Given the description of an element on the screen output the (x, y) to click on. 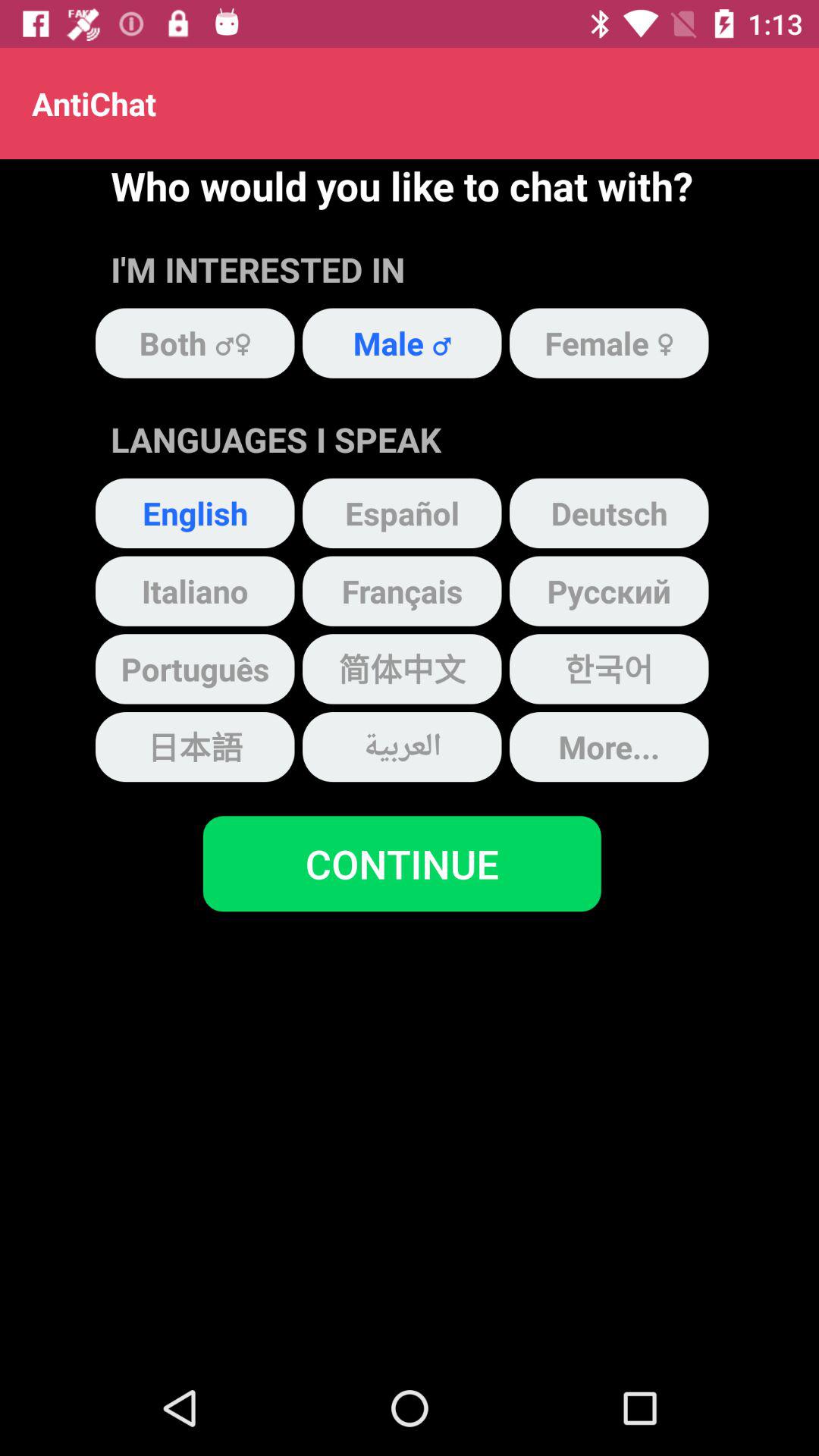
tap the icon next to the english item (401, 513)
